Given the description of an element on the screen output the (x, y) to click on. 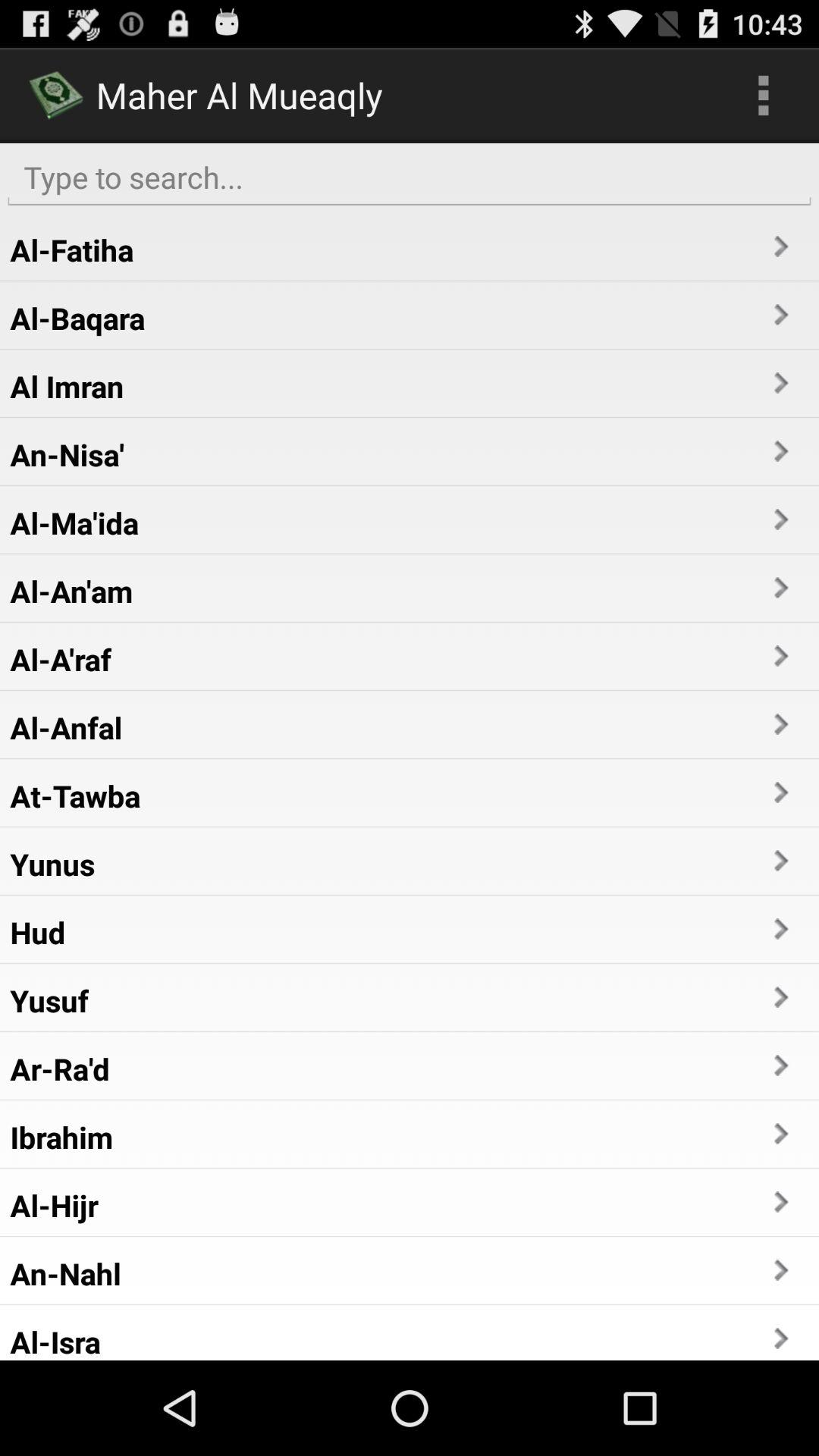
click icon above the al-hijr app (61, 1137)
